Given the description of an element on the screen output the (x, y) to click on. 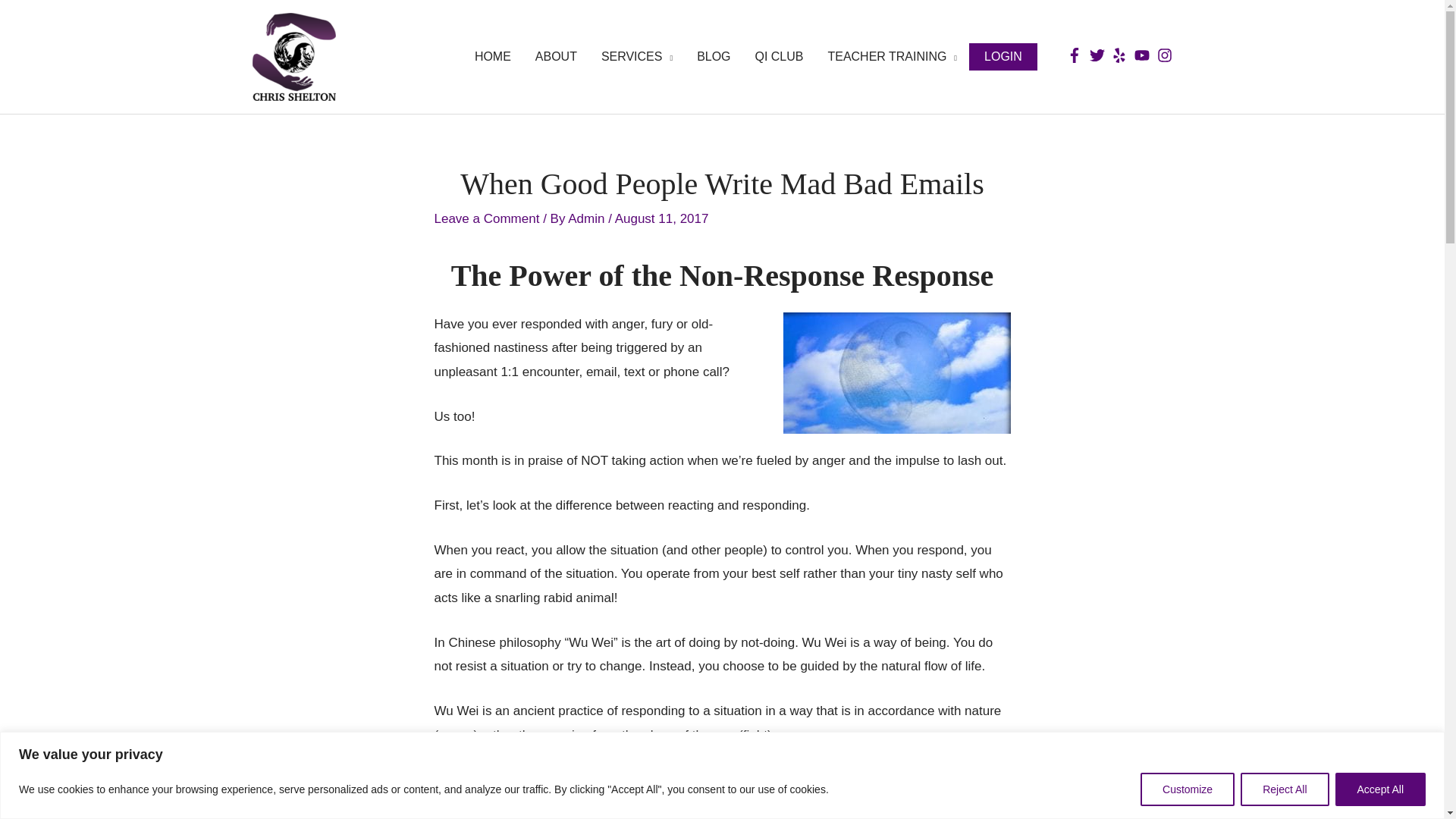
Customize (1187, 788)
TEACHER TRAINING (892, 56)
View all posts by Admin (587, 218)
Reject All (1283, 788)
Accept All (1380, 788)
LOGIN (1002, 56)
